Given the description of an element on the screen output the (x, y) to click on. 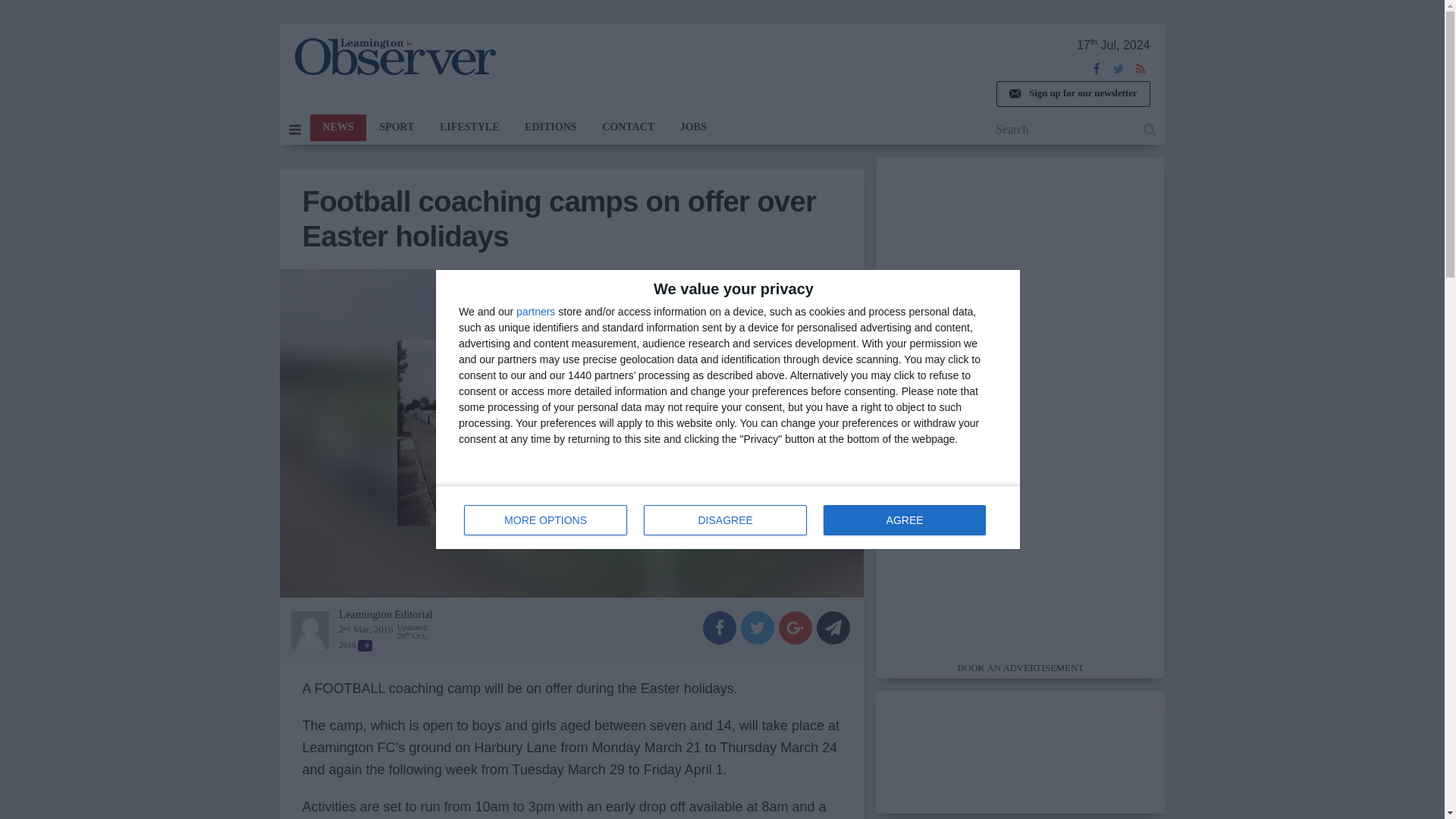
LIFESTYLE (469, 127)
SPORT (396, 127)
NEWS (727, 516)
CONTACT (337, 127)
AGREE (627, 127)
  Sign up for our newsletter (904, 520)
MORE OPTIONS (1072, 94)
EDITIONS (545, 520)
DISAGREE (550, 127)
partners (724, 520)
The Leamington Observer (535, 311)
JOBS (394, 55)
